Given the description of an element on the screen output the (x, y) to click on. 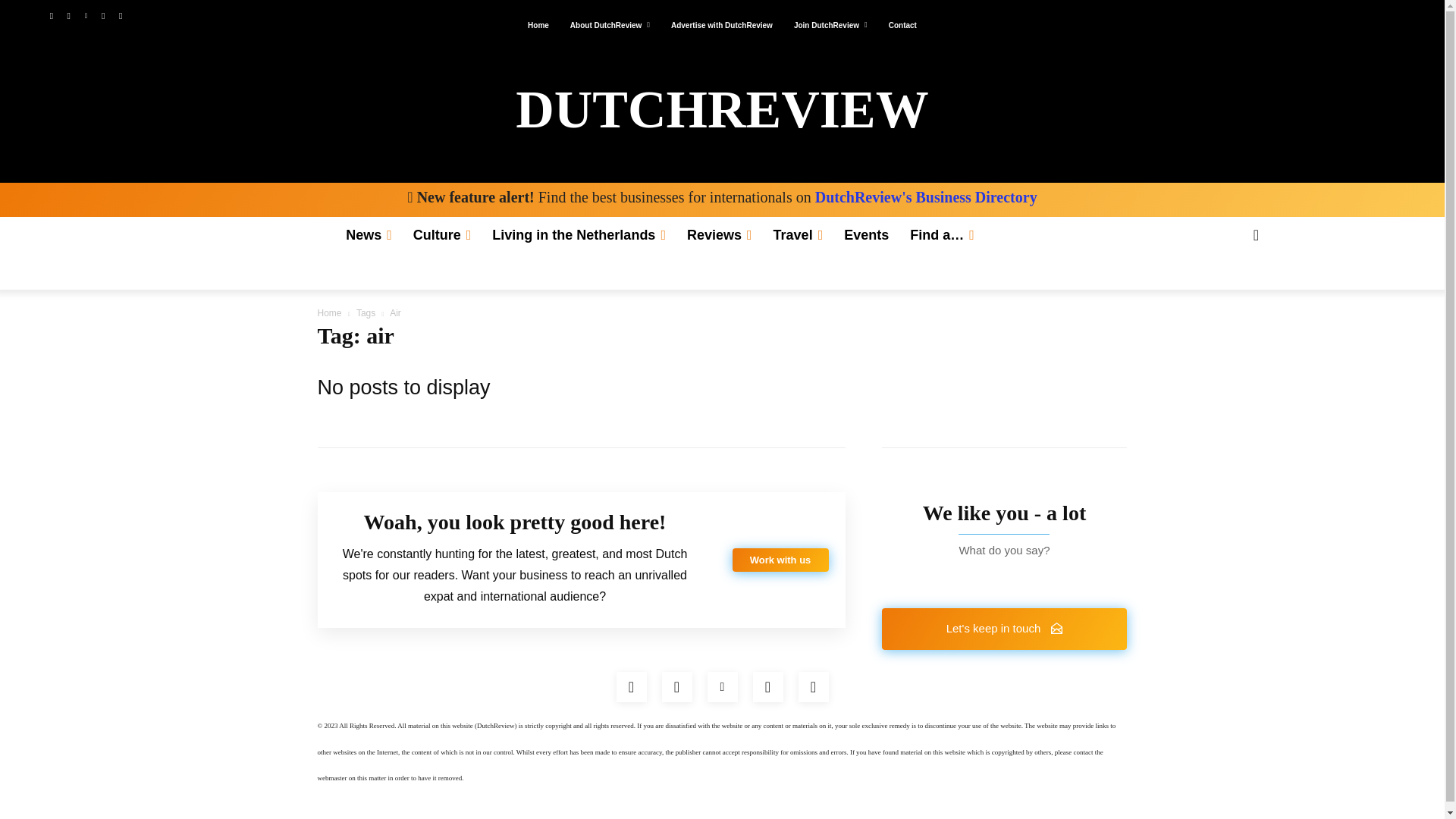
Youtube (120, 16)
Linkedin (721, 686)
Instagram (676, 686)
Twitter (103, 16)
Facebook (630, 686)
Facebook (50, 16)
Instagram (68, 16)
Let's keep in touch (1003, 629)
Work with us (780, 559)
Linkedin (85, 16)
